Given the description of an element on the screen output the (x, y) to click on. 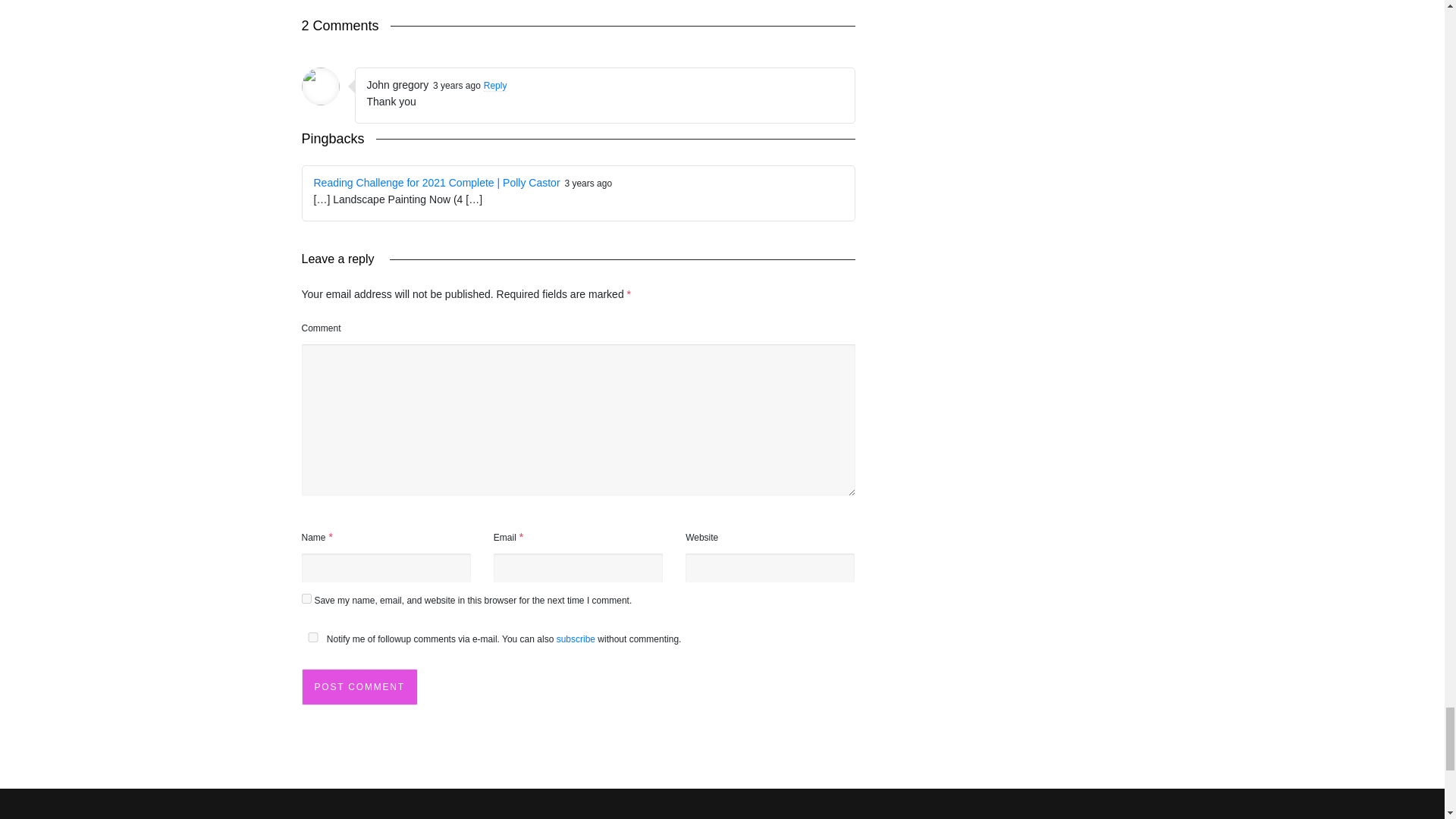
yes (306, 598)
yes (312, 637)
Post comment (359, 687)
